Given the description of an element on the screen output the (x, y) to click on. 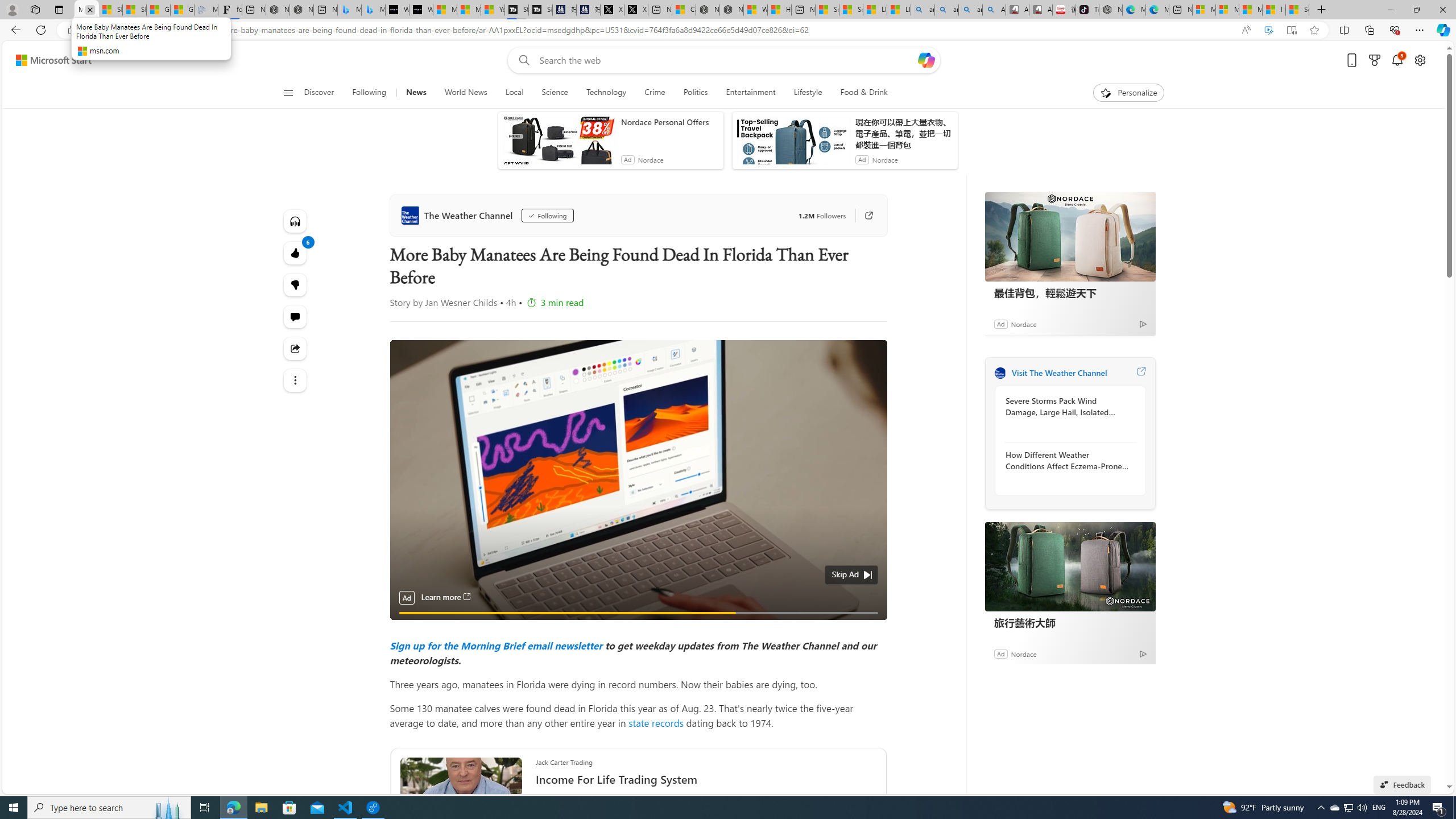
Listen to this article (295, 221)
anim-content (793, 144)
To get missing image descriptions, open the context menu. (1105, 92)
Following (368, 92)
Address and search bar (658, 29)
Personal Profile (12, 9)
TikTok (1087, 9)
See more (295, 380)
amazon - Search (946, 9)
Workspaces (34, 9)
Local (514, 92)
Nordace Personal Offers (669, 121)
